Given the description of an element on the screen output the (x, y) to click on. 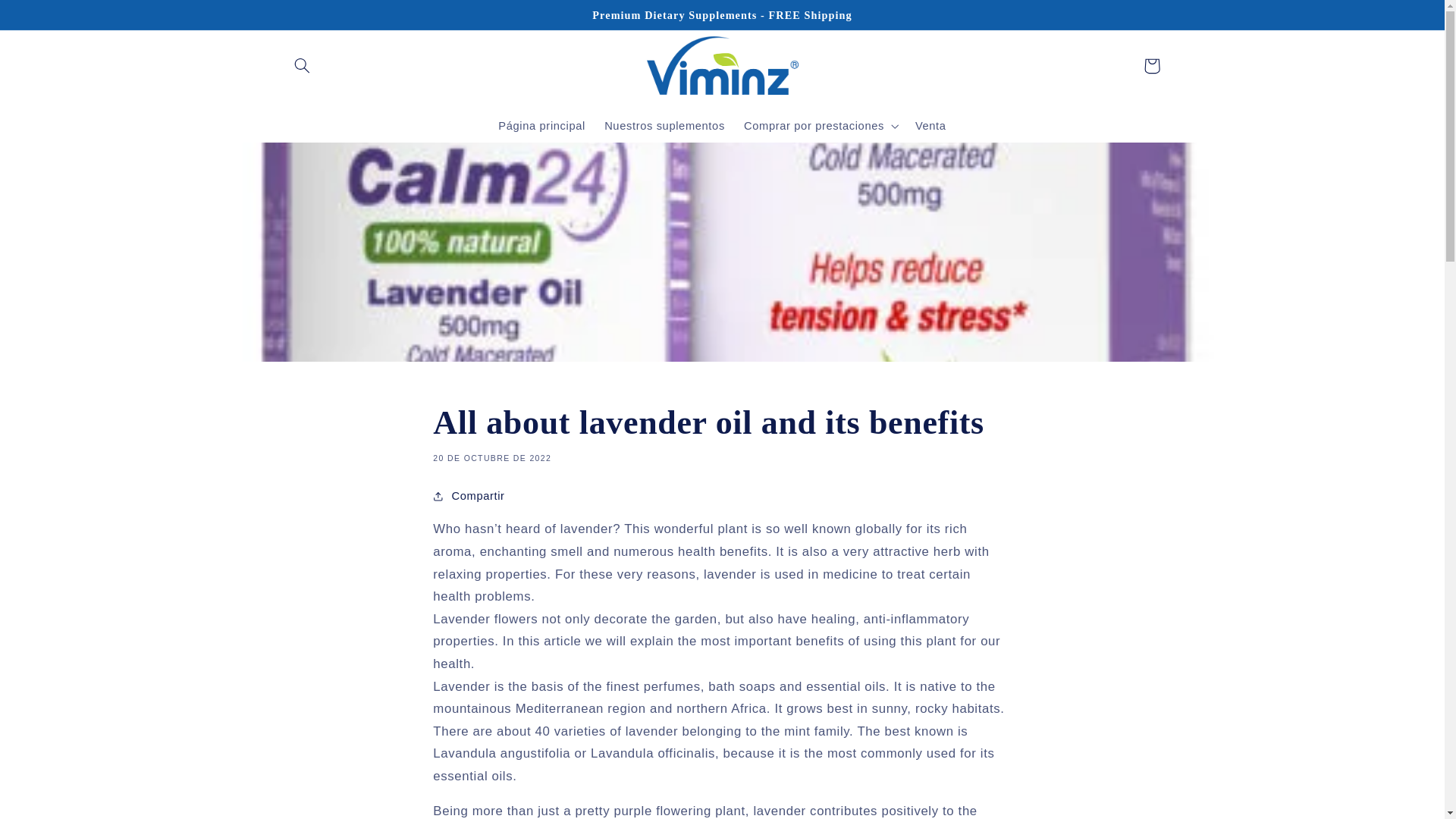
Venta (930, 125)
Nuestros suplementos (665, 125)
Ir directamente al contenido (48, 18)
